Given the description of an element on the screen output the (x, y) to click on. 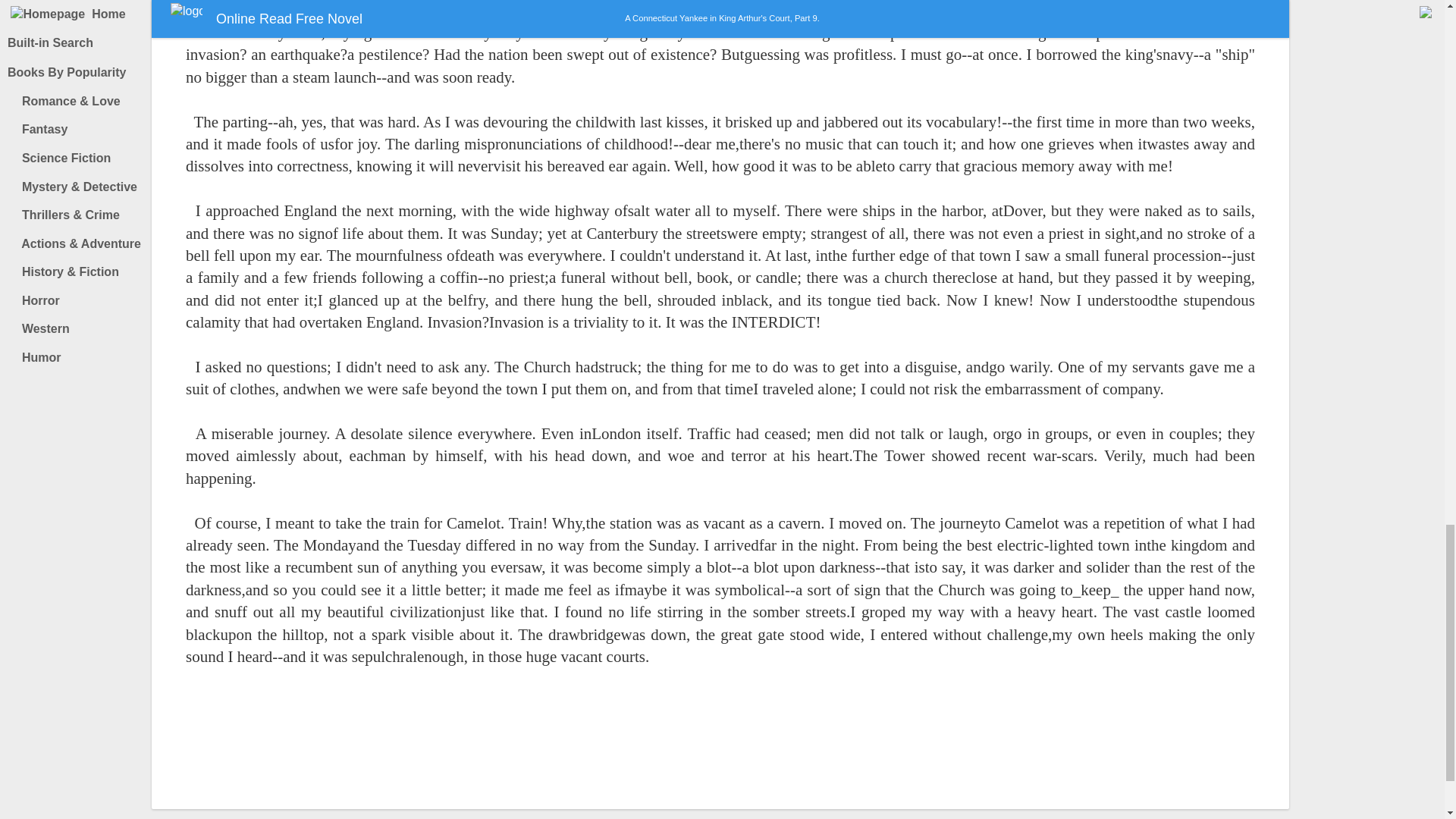
Previous Page (690, 745)
Speak Easy (1331, 23)
Next Page (751, 745)
Speak Easy (1331, 23)
